Given the description of an element on the screen output the (x, y) to click on. 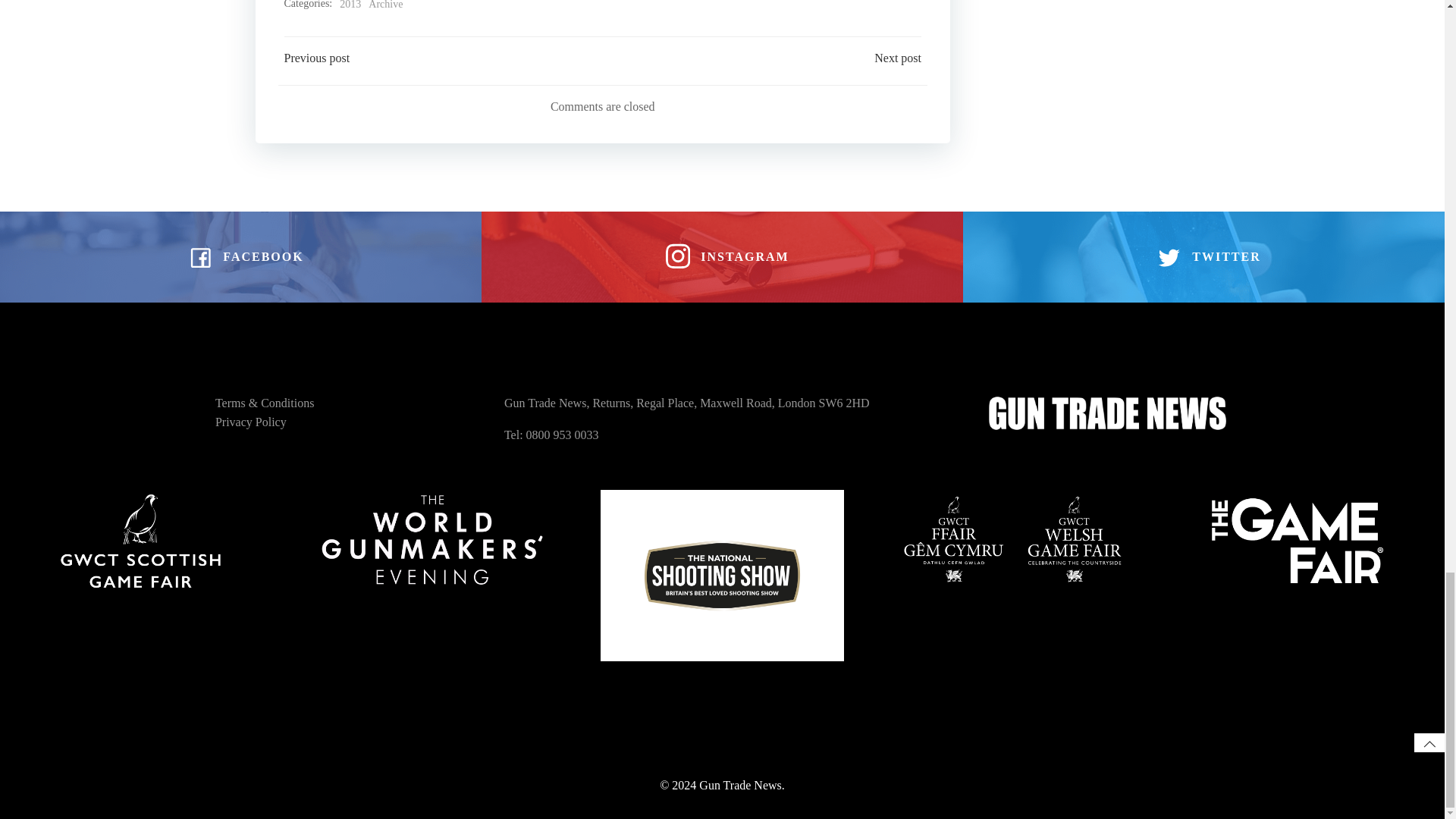
2013 (350, 6)
Previous post (316, 58)
Archive (385, 6)
FACEBOOK (239, 256)
Next post (898, 58)
TWITTER (1203, 256)
INSTAGRAM (722, 256)
